Given the description of an element on the screen output the (x, y) to click on. 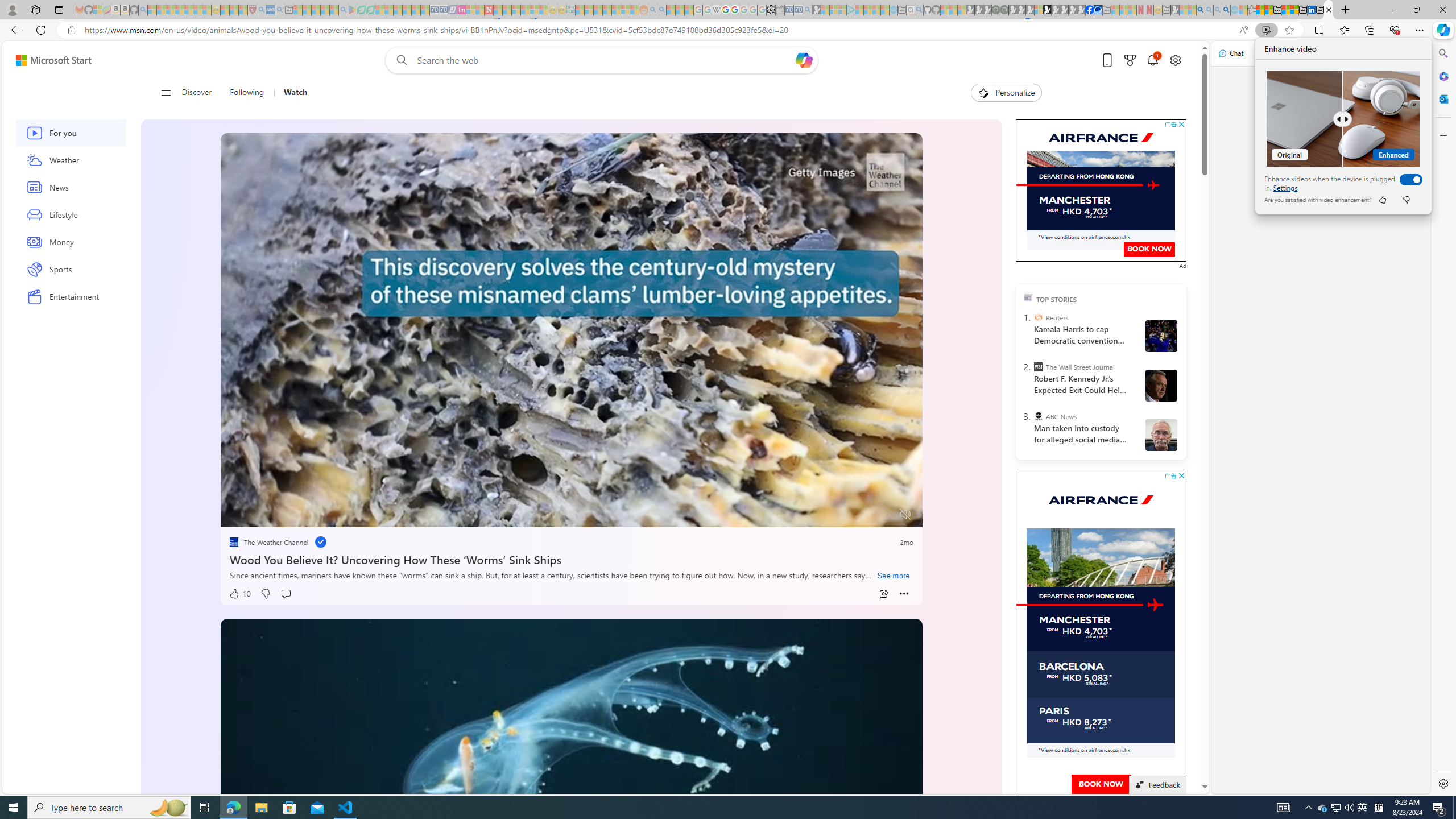
Google Chrome Internet Browser Download - Search Images (1225, 9)
Share (883, 593)
Live Science (558, 317)
Robert H. Shmerling, MD - Harvard Health - Sleeping (252, 9)
Running applications (700, 807)
Seek Back (260, 514)
Skip to content (49, 59)
Expert Portfolios - Sleeping (606, 9)
